Given the description of an element on the screen output the (x, y) to click on. 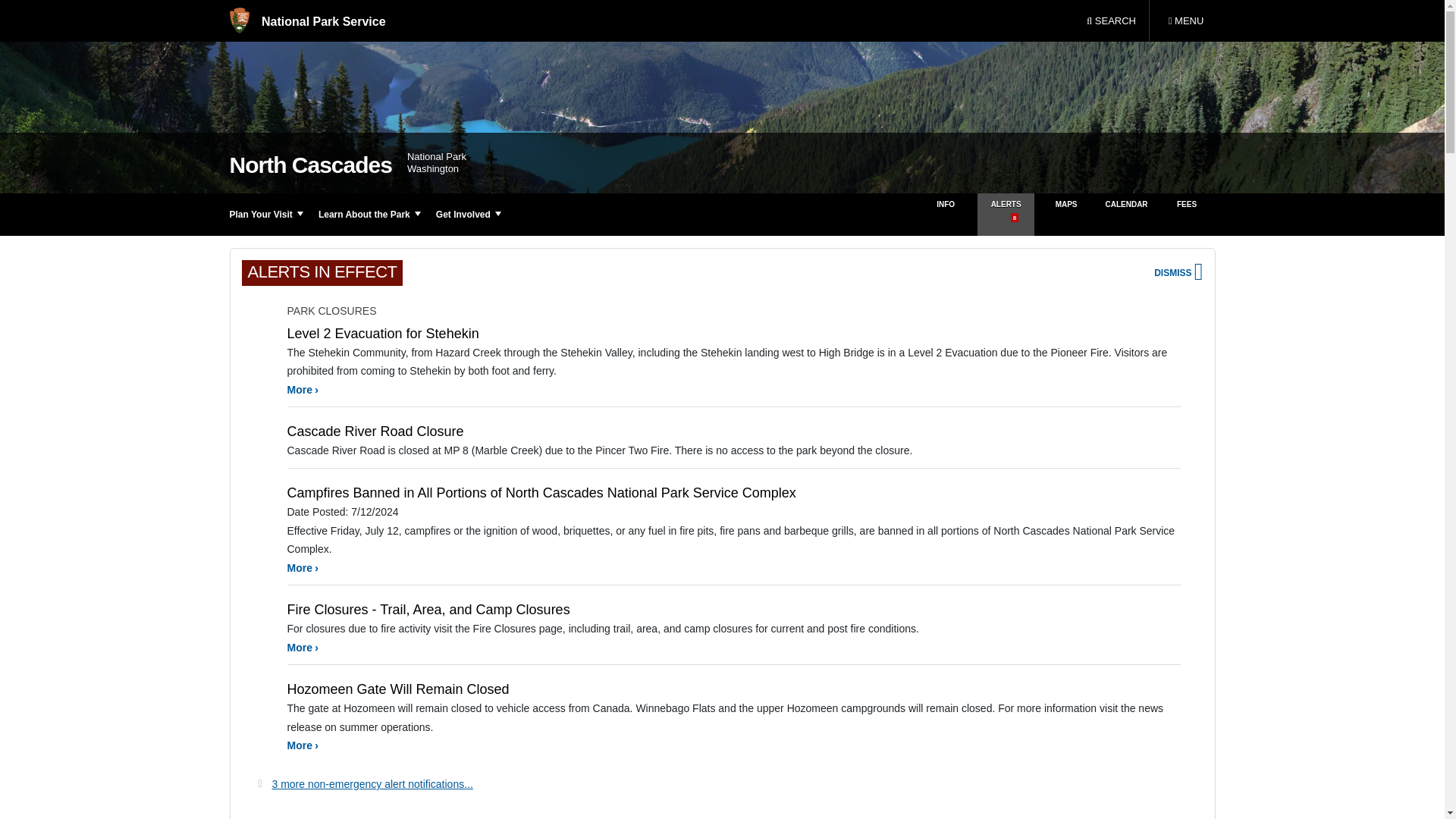
Alert Level Park Closure (259, 498)
Alert Level Park Closure (259, 615)
Alert Level Park Closure (259, 338)
Alert Level Park Closure (259, 436)
Alert Level Park Closure (259, 694)
Hozomeen Gate Will Remain Closed (302, 745)
Level 2 Evacuation for Stehekin (302, 389)
National Park Service (307, 20)
SEARCH (1111, 20)
Fire Closures - Trail, Area, and Camp Closures  (1185, 20)
